Given the description of an element on the screen output the (x, y) to click on. 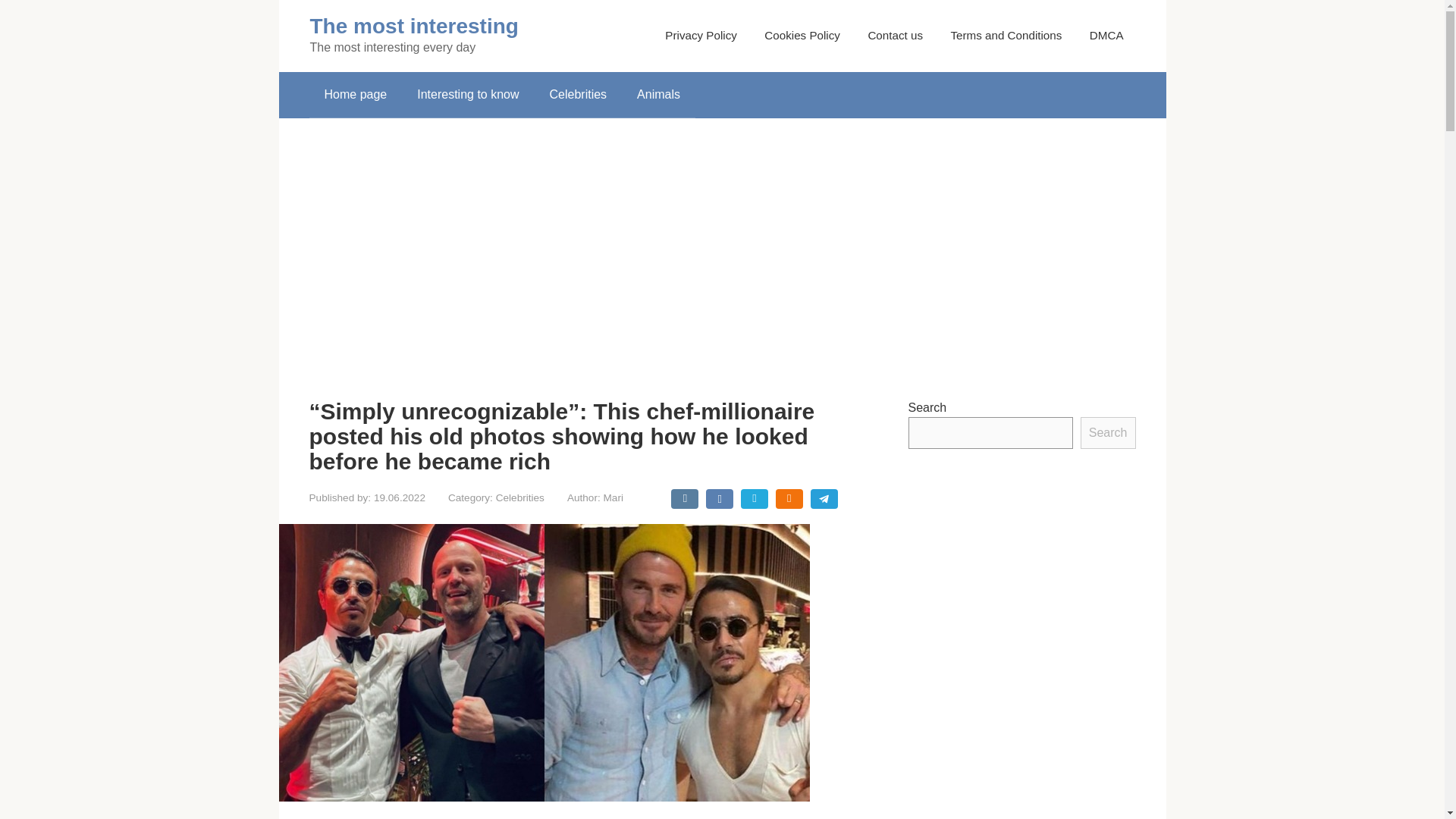
Privacy Policy (700, 35)
Interesting to know (467, 94)
Home page (355, 94)
Celebrities (520, 497)
Celebrities (578, 94)
Terms and Conditions (1005, 35)
DMCA (1106, 35)
The most interesting (413, 25)
Contact us (895, 35)
Animals (658, 94)
Cookies Policy (802, 35)
